Given the description of an element on the screen output the (x, y) to click on. 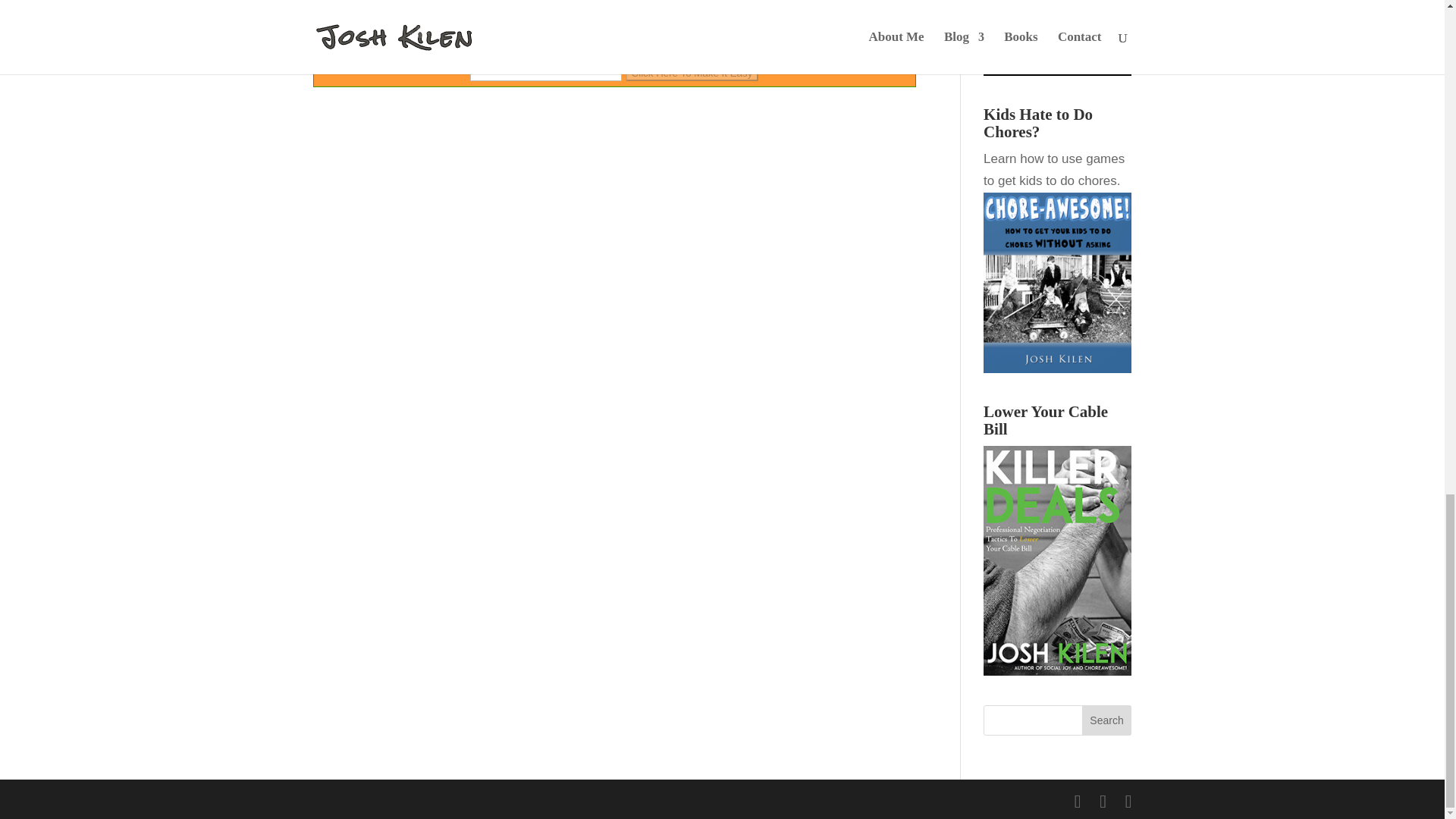
Click Here To Make It Easy (692, 73)
Click Here To Make It Easy (692, 73)
Search (1106, 720)
Search (1106, 720)
